Given the description of an element on the screen output the (x, y) to click on. 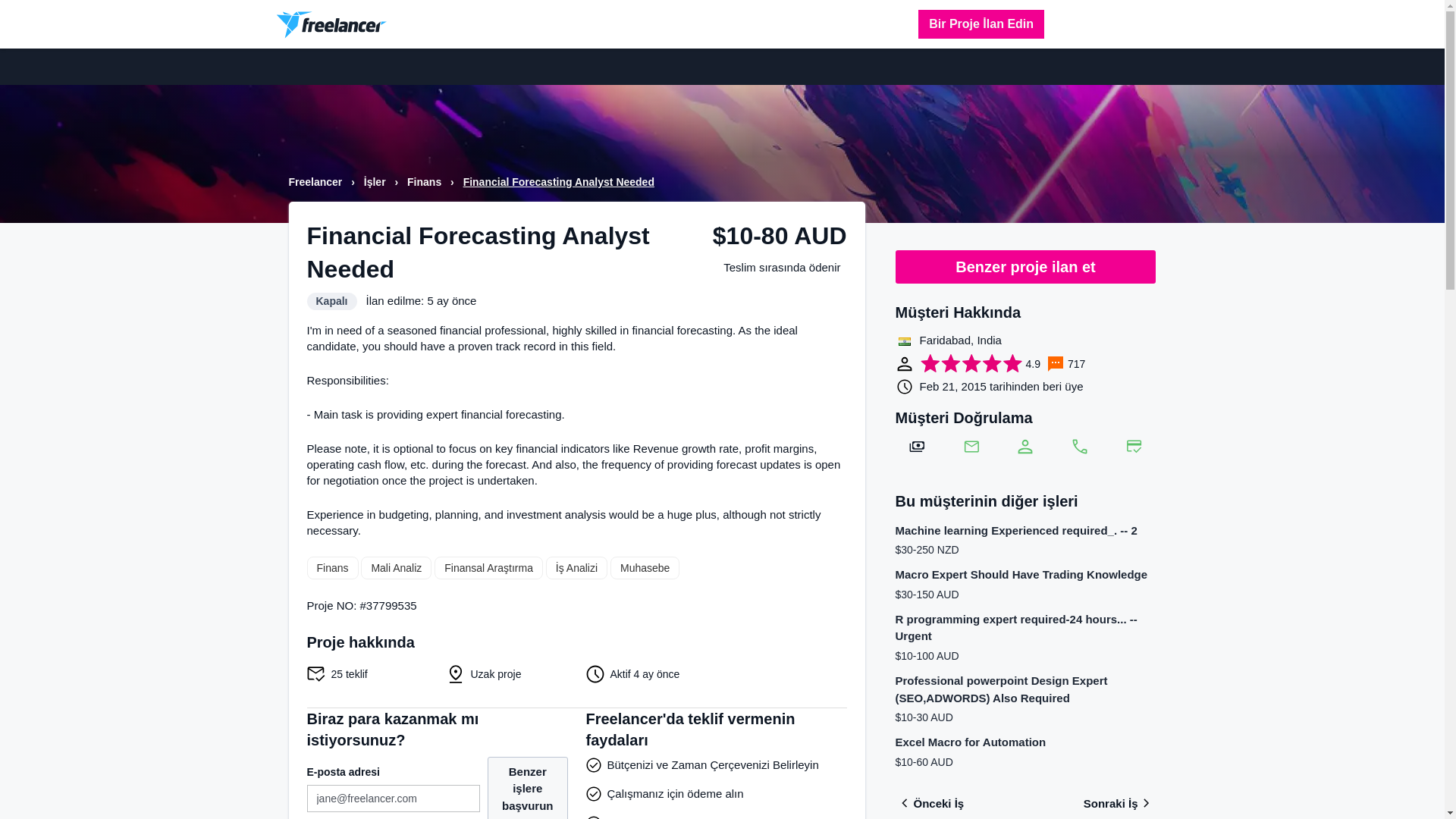
Finans (331, 567)
Benzer proje ilan et (1025, 266)
Muhasebe (644, 567)
Mali Analiz (395, 567)
India (904, 341)
Freelancer (316, 182)
Finans (425, 182)
